Given the description of an element on the screen output the (x, y) to click on. 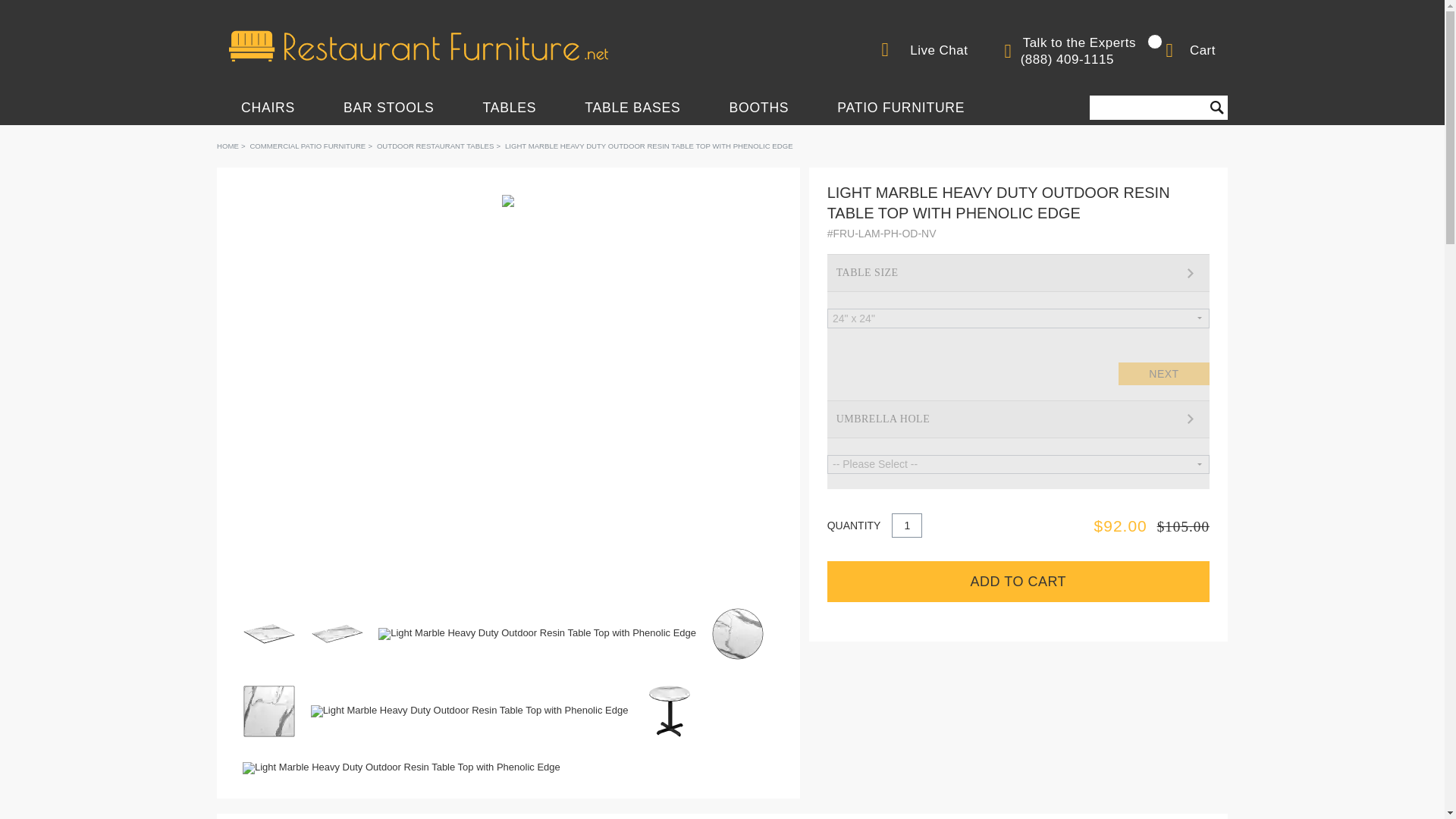
Qty (906, 525)
Search (1216, 107)
Add to Cart (1018, 581)
Home (227, 145)
Restaurant Furniture.net (418, 46)
Commercial Patio Furniture (306, 145)
1 (906, 525)
outdoor restaurant tables (435, 145)
